Given the description of an element on the screen output the (x, y) to click on. 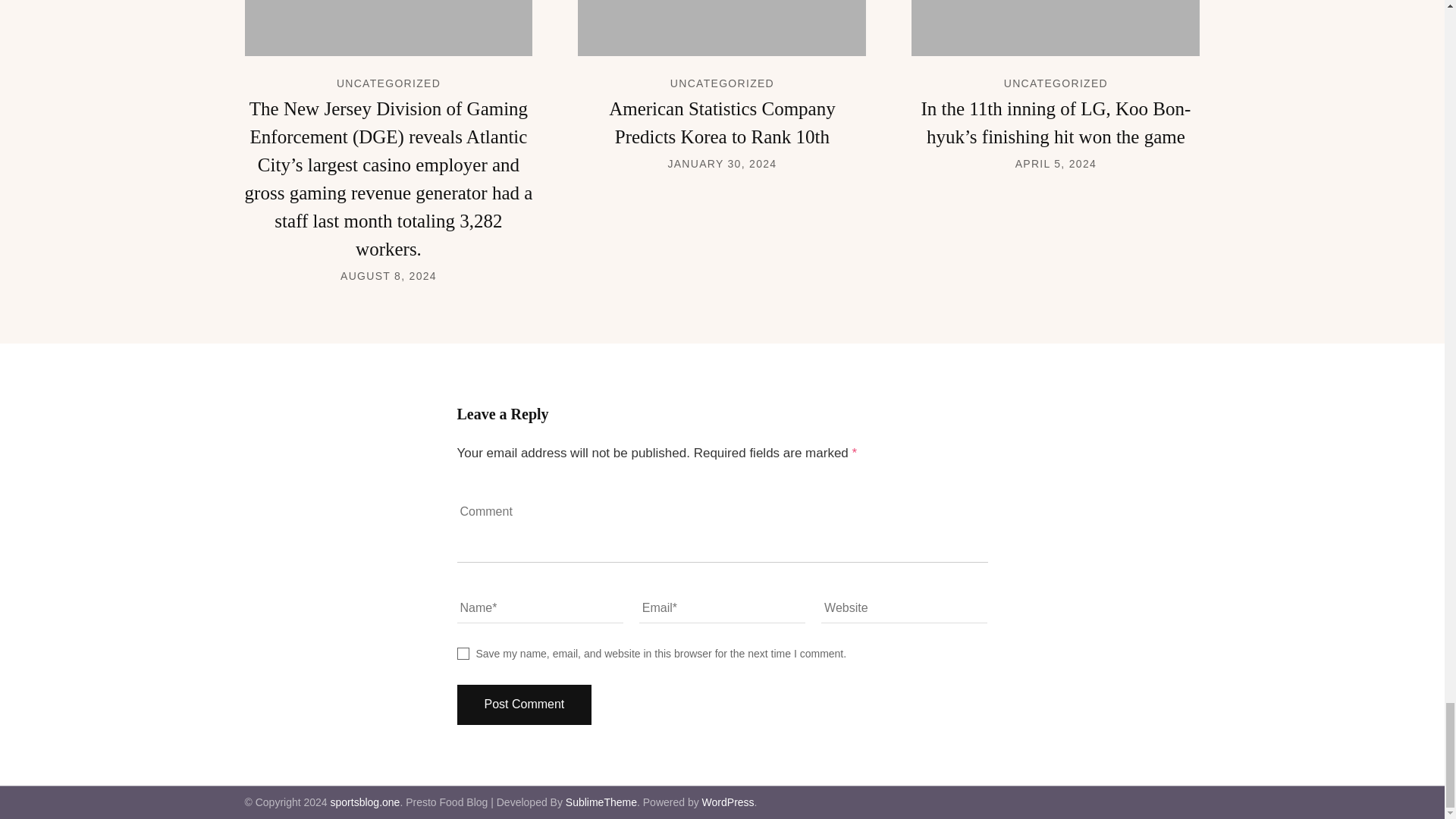
Post Comment (524, 704)
UNCATEGORIZED (721, 83)
American Statistics Company Predicts Korea to Rank 10th (721, 122)
UNCATEGORIZED (388, 83)
UNCATEGORIZED (1056, 83)
AUGUST 8, 2024 (388, 275)
JANUARY 30, 2024 (721, 163)
